Given the description of an element on the screen output the (x, y) to click on. 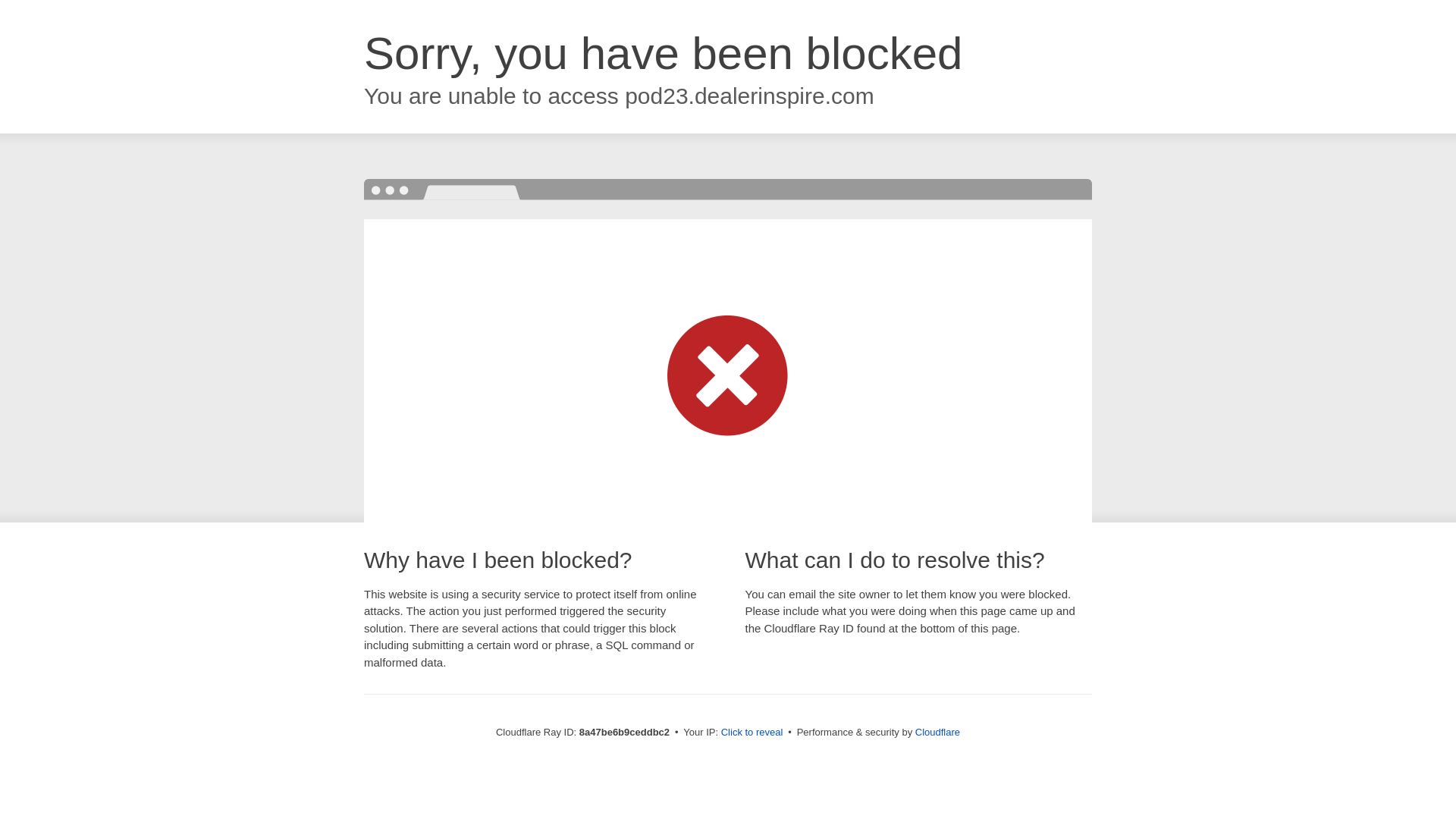
Click to reveal (751, 732)
Cloudflare (937, 731)
